Given the description of an element on the screen output the (x, y) to click on. 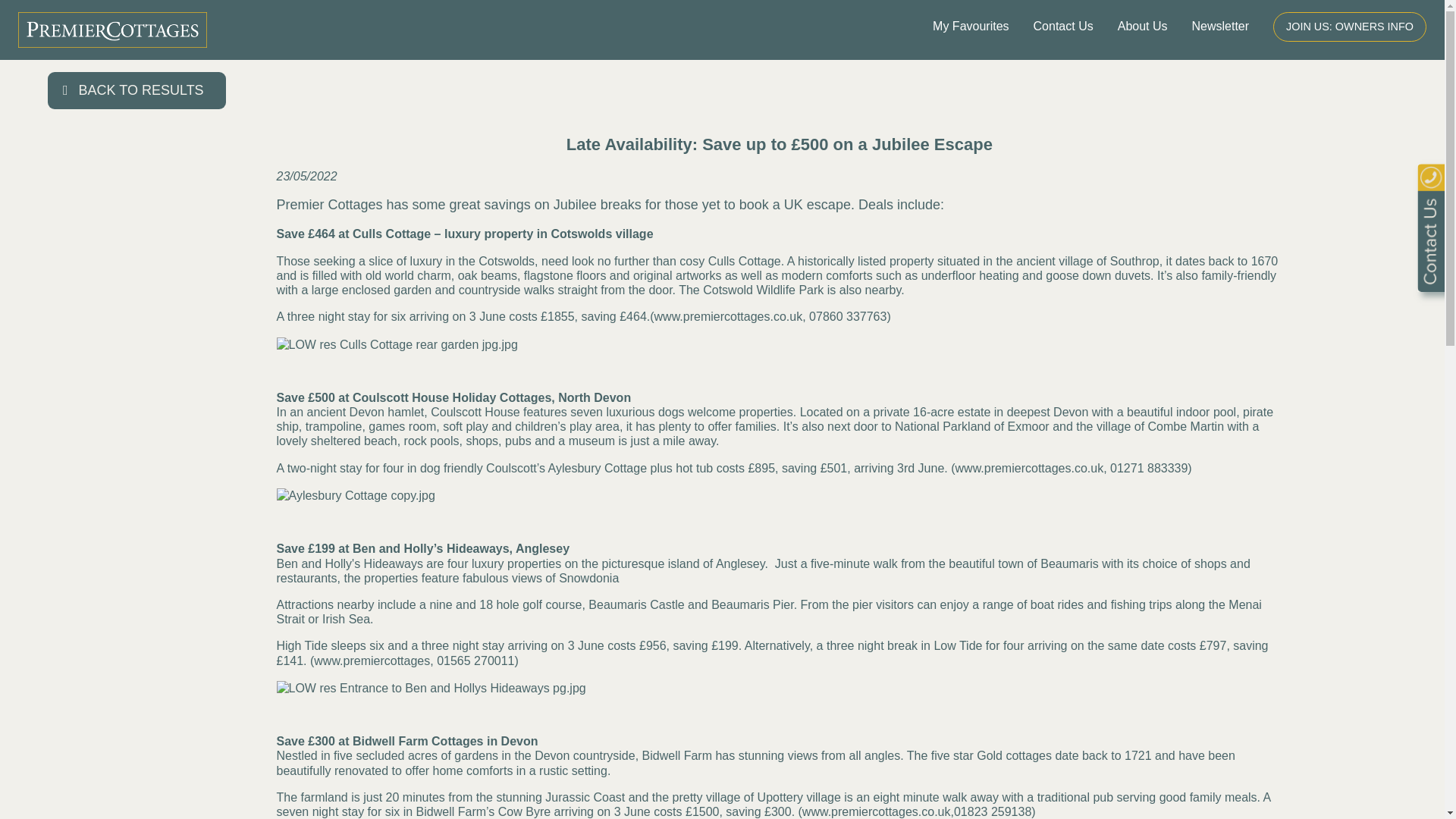
Contact Us (1063, 26)
 BACK TO RESULTS (136, 90)
Join Us: Owners Info (1349, 26)
Subscribe to the Premier Cottages Newsletter (1220, 26)
About Us (1142, 26)
My Favourites (971, 26)
JOIN US: OWNERS INFO (1349, 26)
Contact Us (1063, 26)
Newsletter (1220, 26)
